Given the description of an element on the screen output the (x, y) to click on. 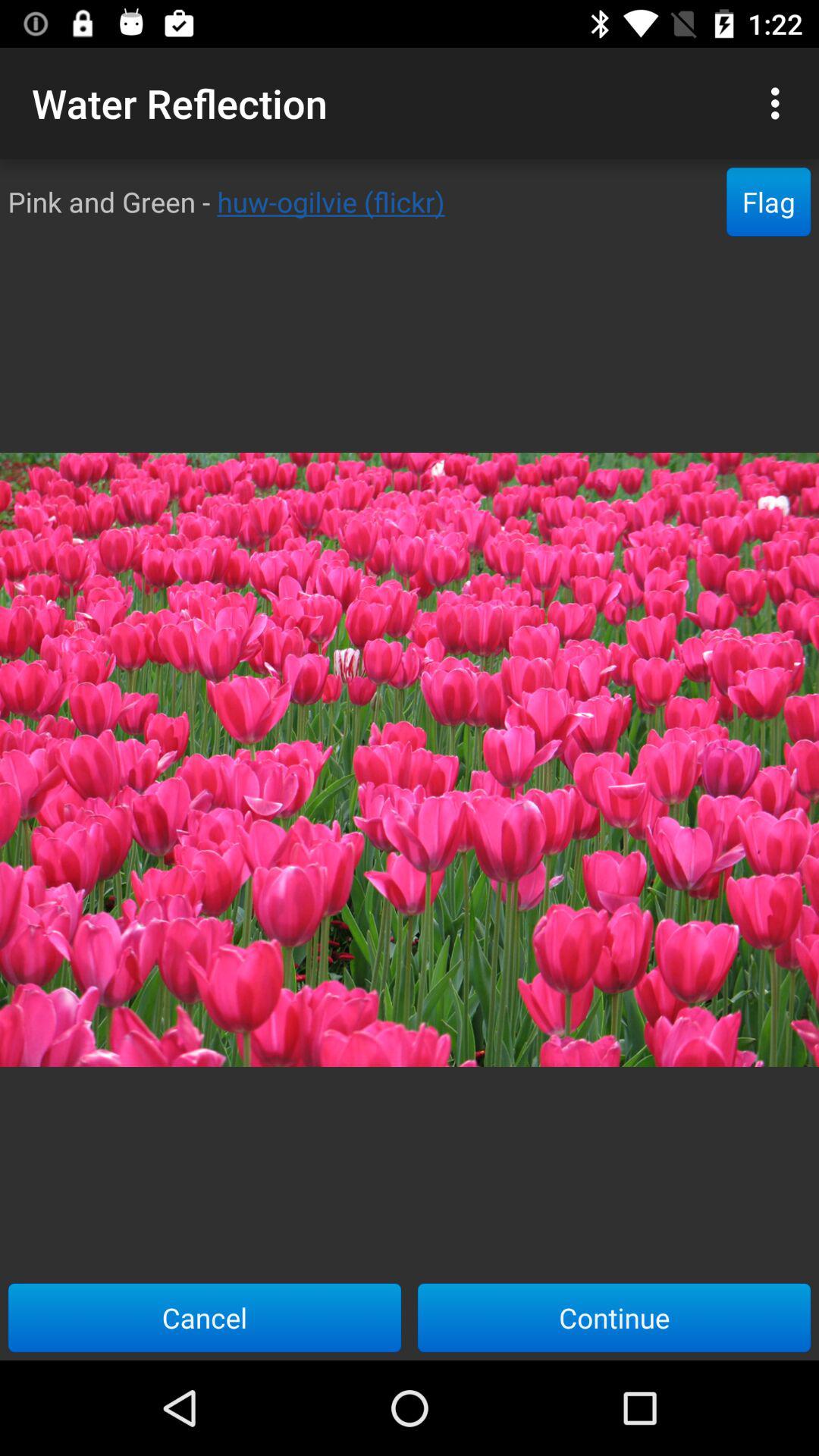
turn off cancel icon (204, 1317)
